Given the description of an element on the screen output the (x, y) to click on. 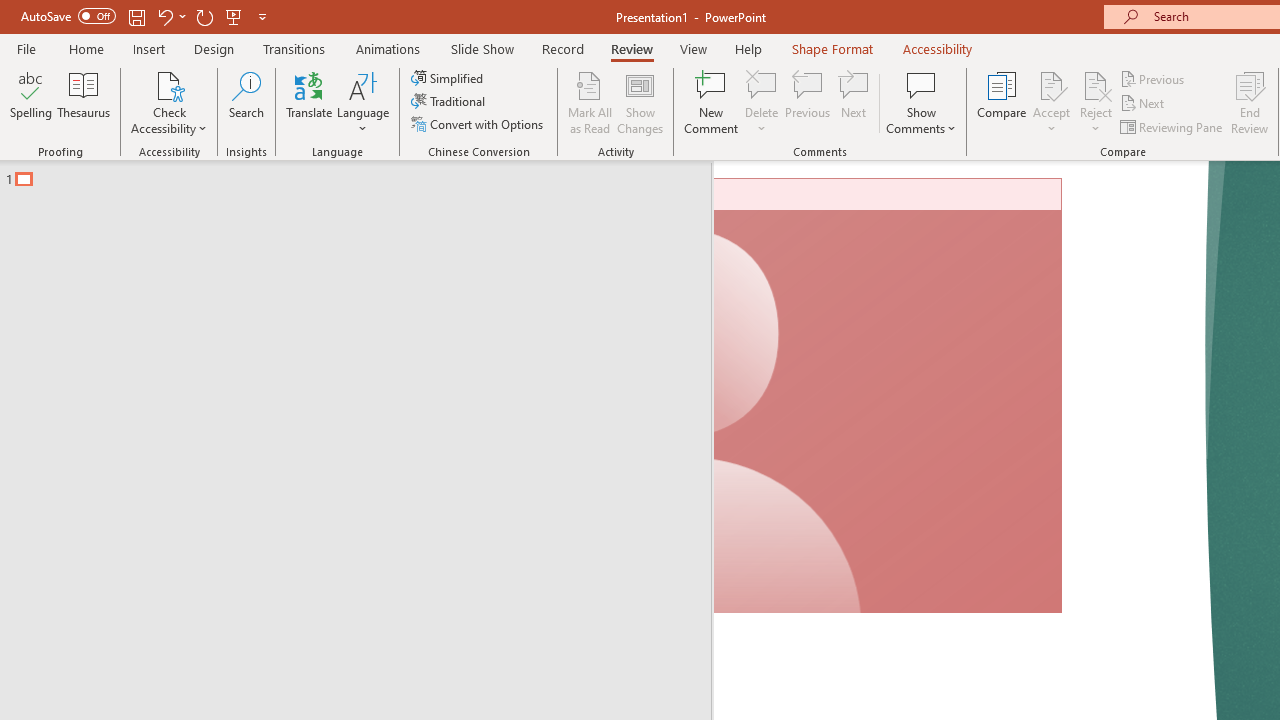
Show Changes (639, 102)
Review (631, 48)
Next (1144, 103)
Translate (309, 102)
Accept Change (1051, 84)
AutoSave (68, 16)
Record (562, 48)
System (10, 11)
Simplified (449, 78)
Help (748, 48)
Accept (1051, 102)
Insert (149, 48)
Slide Show (481, 48)
Customize Quick Access Toolbar (262, 15)
Show Comments (921, 102)
